Given the description of an element on the screen output the (x, y) to click on. 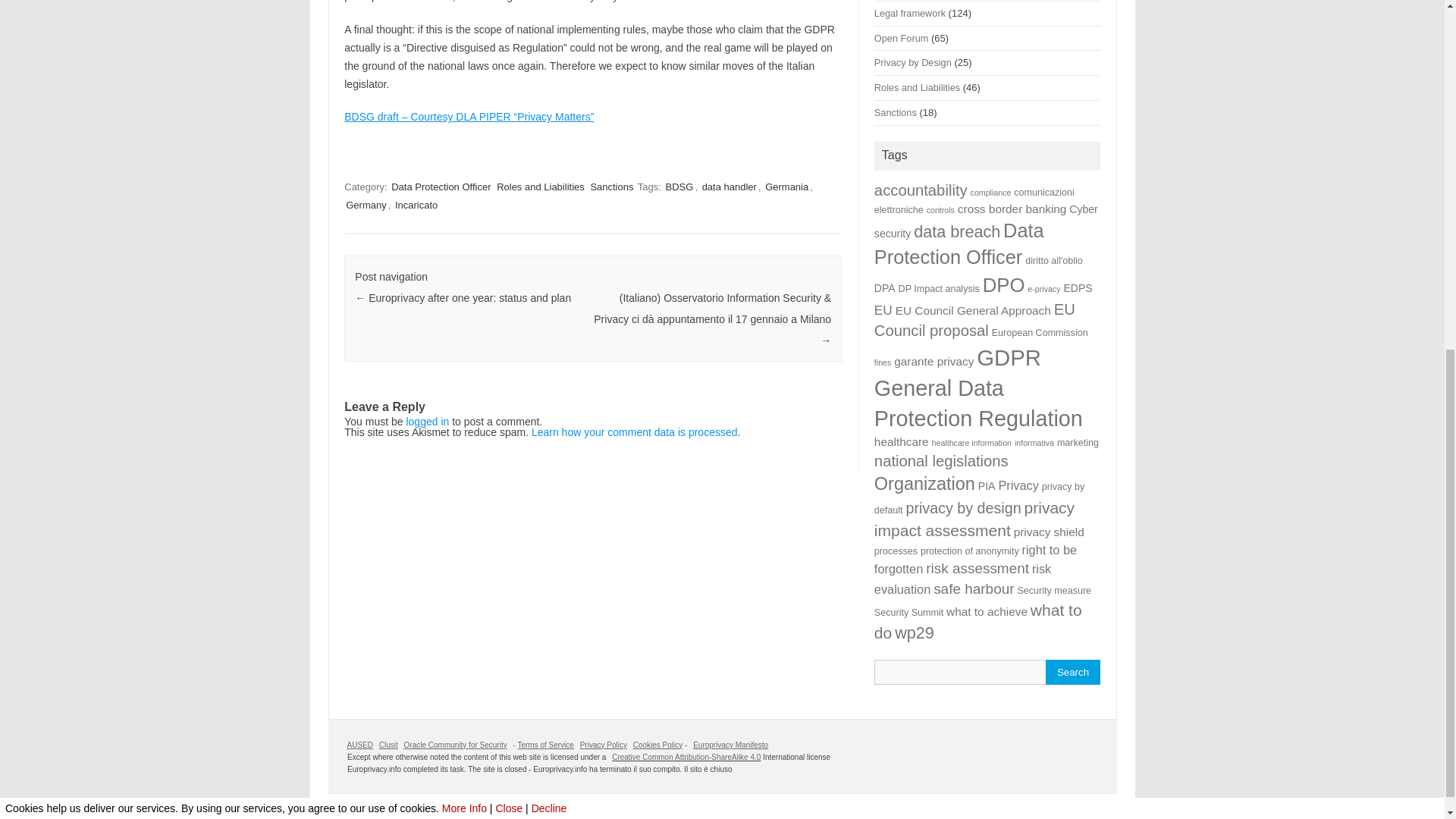
Roles and Liabilities (540, 186)
data handler (729, 186)
logged in (427, 421)
Open Forum (901, 37)
Germania (785, 186)
Search (1072, 672)
Incaricato (416, 205)
BDSG (679, 186)
Germany (365, 205)
Data Protection Officer (441, 186)
Legal framework (909, 12)
Sanctions (611, 186)
Learn how your comment data is processed (634, 431)
